Given the description of an element on the screen output the (x, y) to click on. 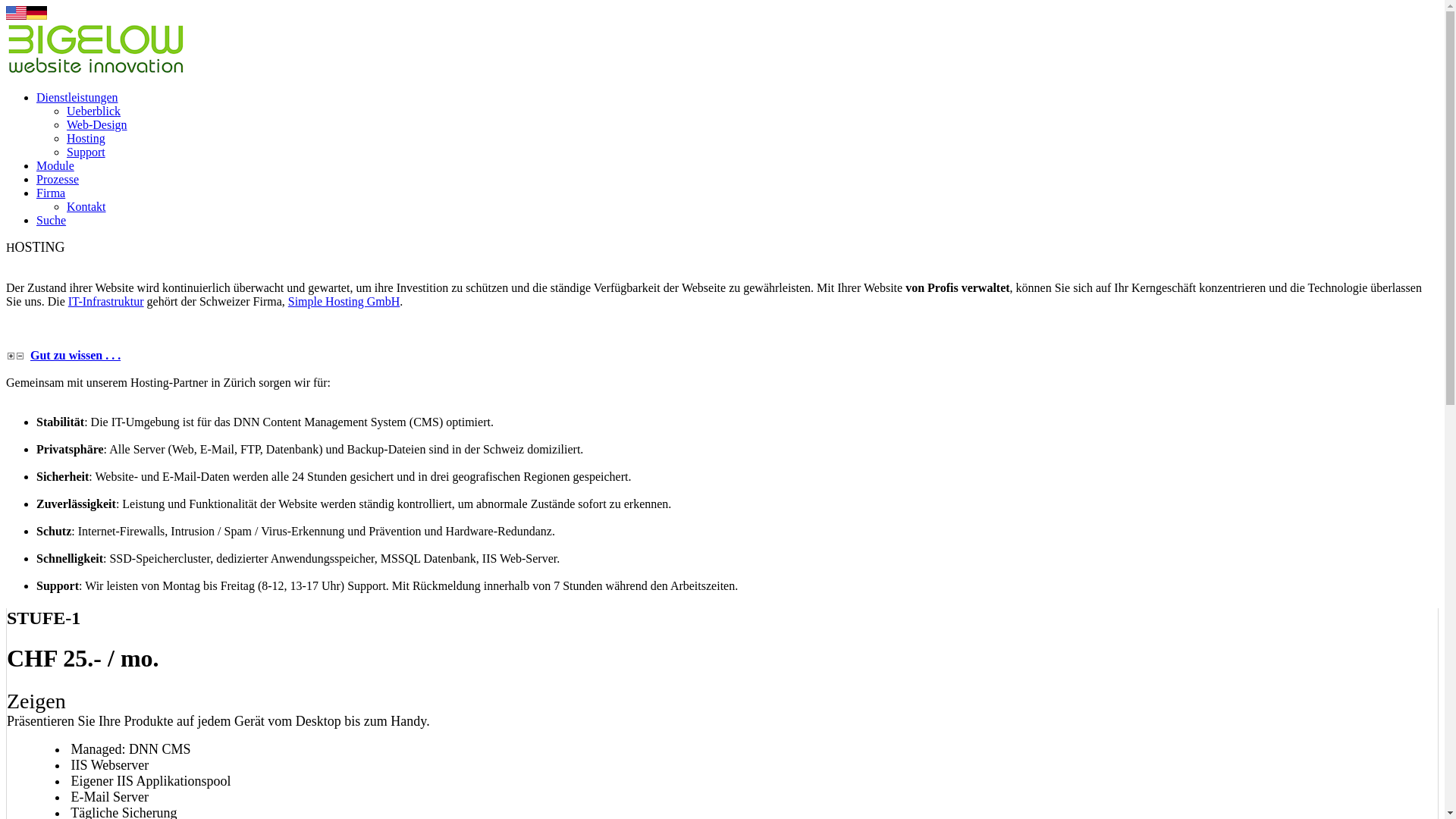
Deutsch (Deutschland) Element type: hover (36, 15)
Hosting Element type: text (85, 137)
Gut zu wissen . . . Element type: text (75, 354)
Bigelow Website Innovation Element type: hover (95, 71)
Firma Element type: text (50, 192)
Prozesse Element type: text (57, 178)
Simple Hosting GmbH Element type: text (344, 300)
English (United States) Element type: hover (16, 15)
Kontakt Element type: text (86, 206)
Dienstleistungen Element type: text (77, 97)
Web-Design Element type: text (96, 124)
Suche Element type: text (50, 219)
Module Element type: text (55, 165)
IT-Infrastruktur Element type: text (106, 300)
Support Element type: text (85, 151)
Ueberblick Element type: text (93, 110)
